Given the description of an element on the screen output the (x, y) to click on. 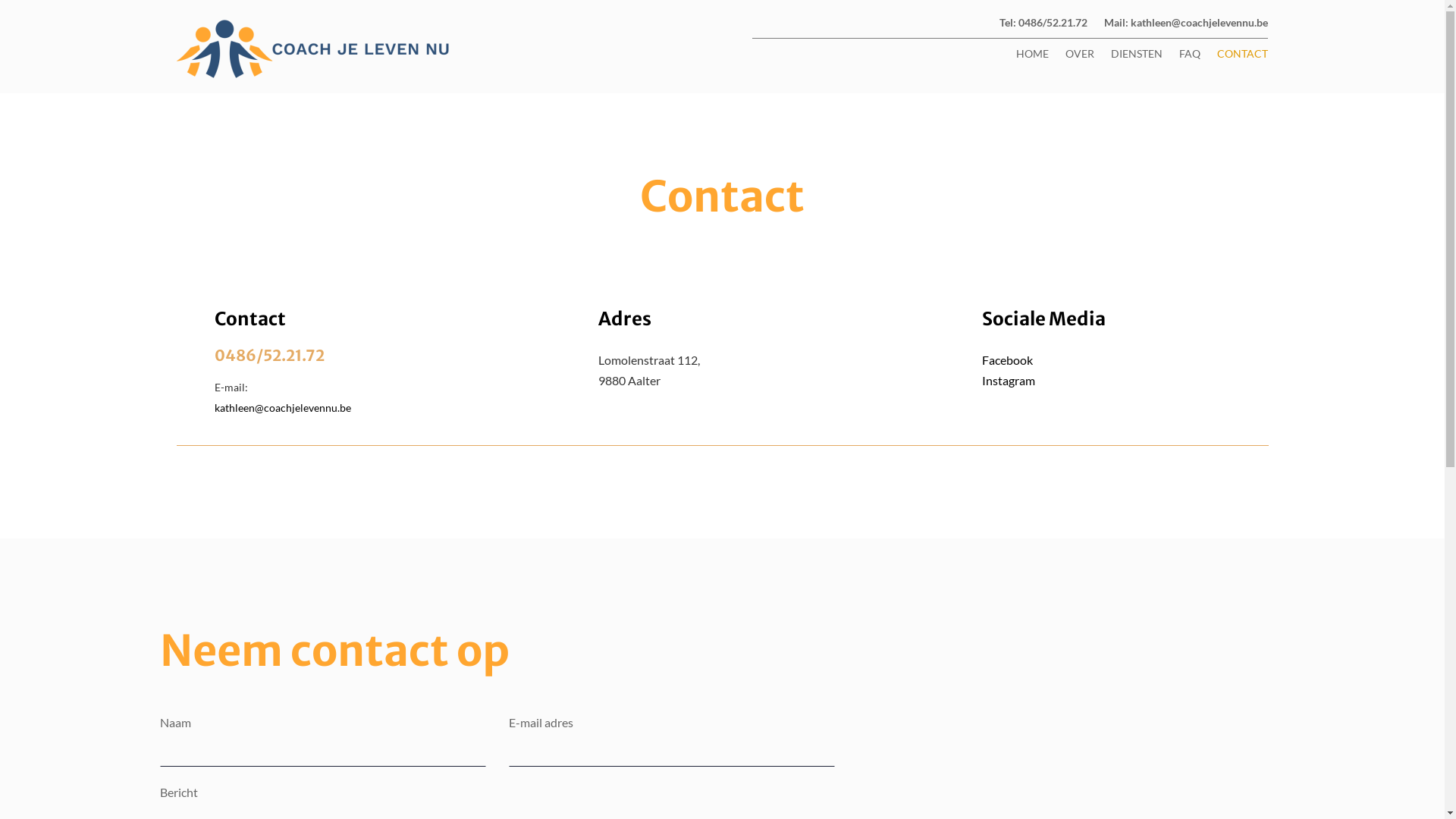
Instagram Element type: text (1008, 380)
OVER Element type: text (1079, 56)
Tel: 0486/52.21.72 Element type: text (1043, 25)
Mail: kathleen@coachjelevennu.be Element type: text (1185, 25)
CONTACT Element type: text (1242, 56)
FAQ Element type: text (1189, 56)
Facebook Element type: text (1007, 359)
0486/52.21.72 Element type: text (268, 354)
kathleen@coachjelevennu.be Element type: text (281, 407)
HOME Element type: text (1032, 56)
DIENSTEN Element type: text (1136, 56)
Transparent Logo - restyled - 77h Element type: hover (315, 48)
